Given the description of an element on the screen output the (x, y) to click on. 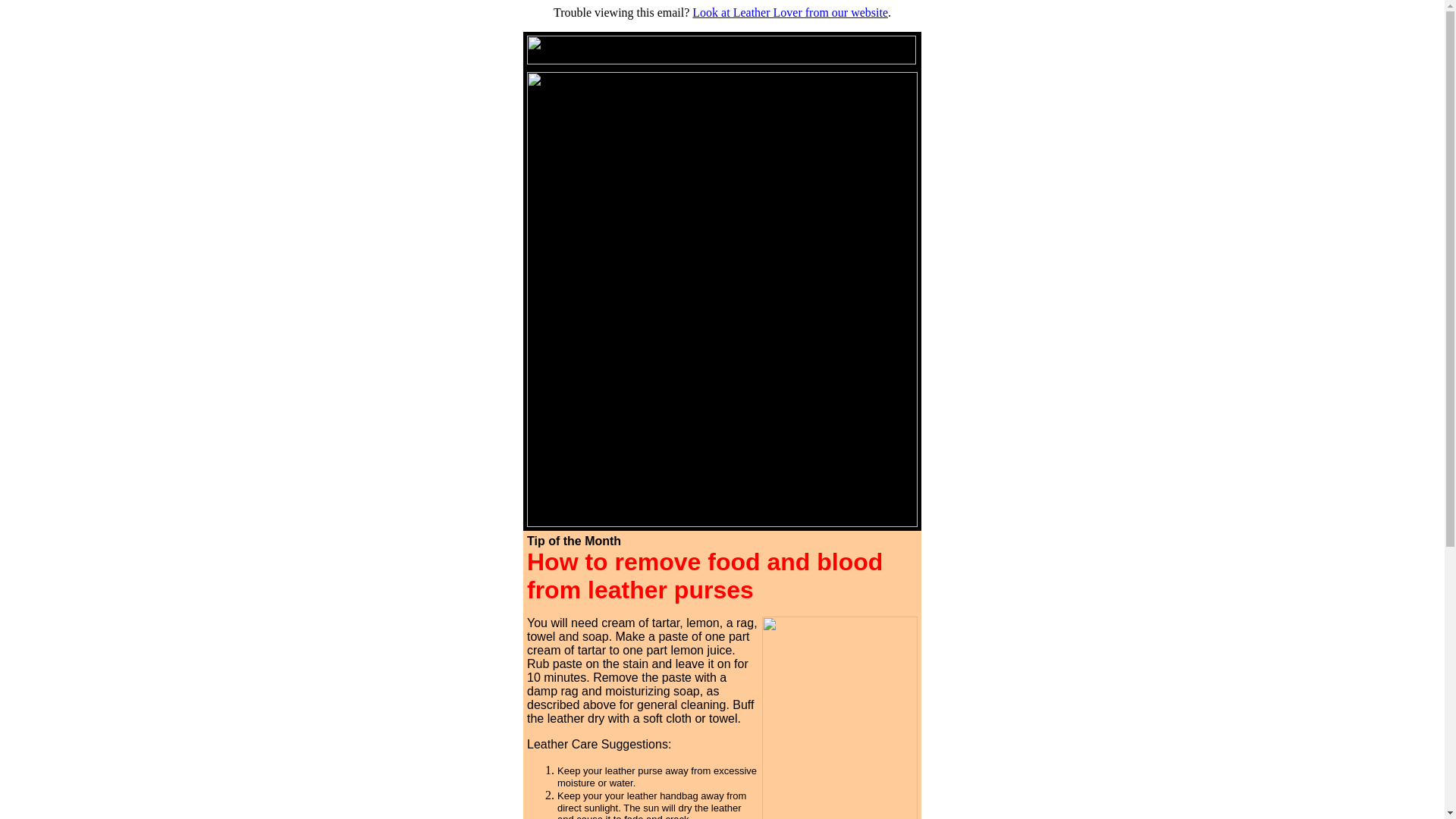
Look at Leather Lover from our website (790, 11)
